Given the description of an element on the screen output the (x, y) to click on. 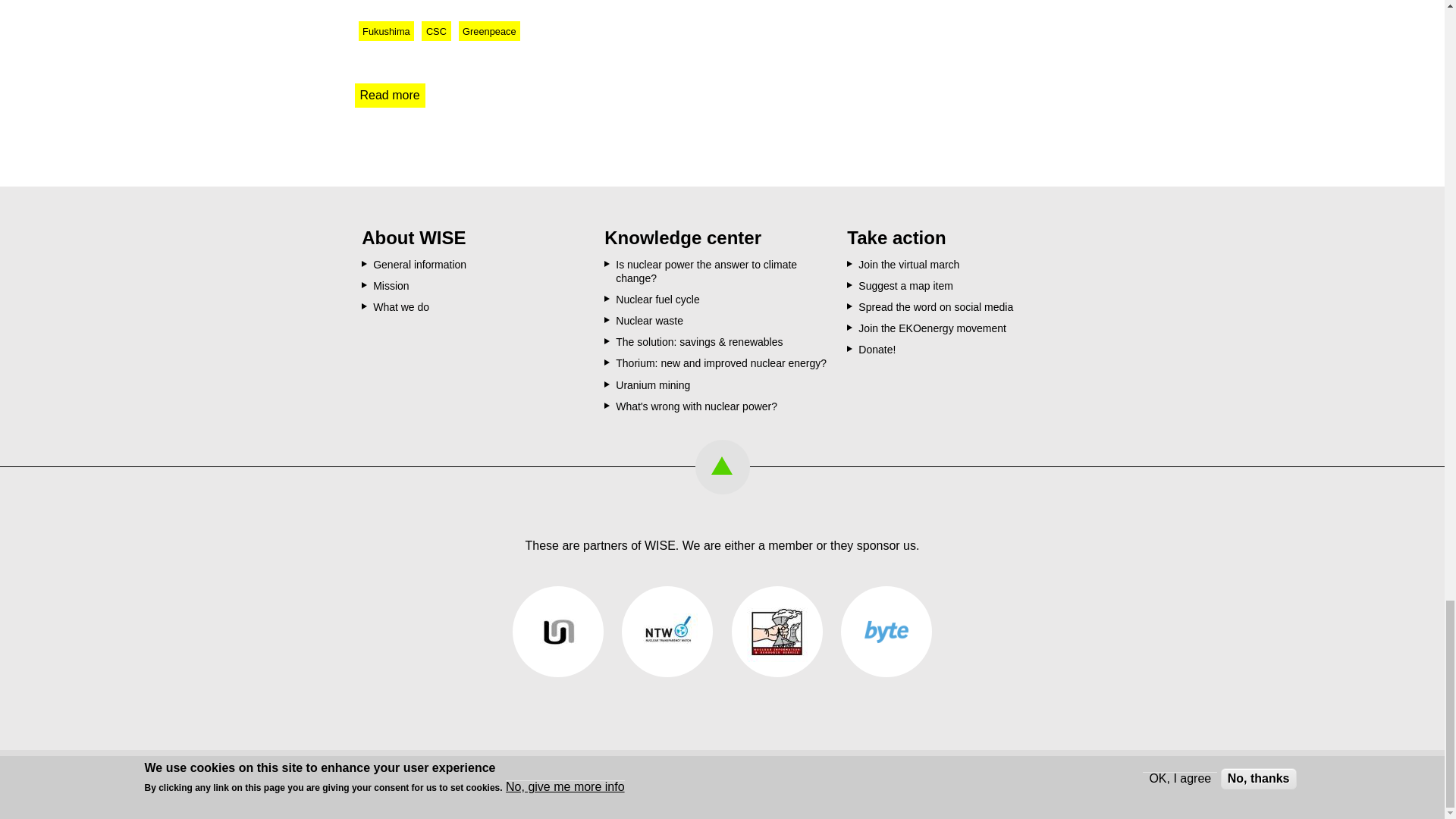
Top (721, 466)
CSC (435, 30)
Greenpeace (488, 30)
Fukushima (385, 30)
